Given the description of an element on the screen output the (x, y) to click on. 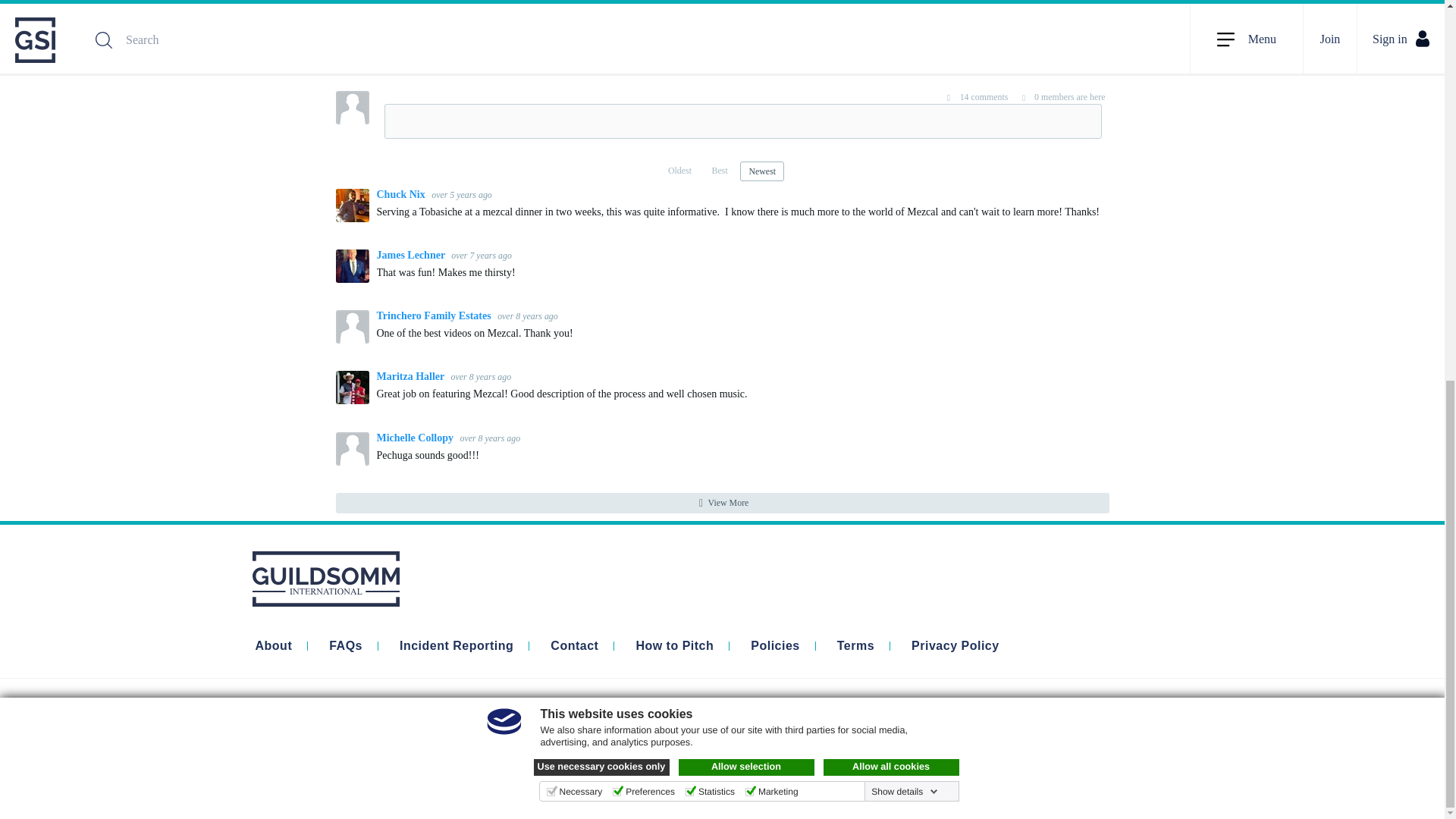
Use necessary cookies only (601, 58)
Show details (903, 82)
Allow all cookies (891, 58)
Allow selection (745, 58)
